Given the description of an element on the screen output the (x, y) to click on. 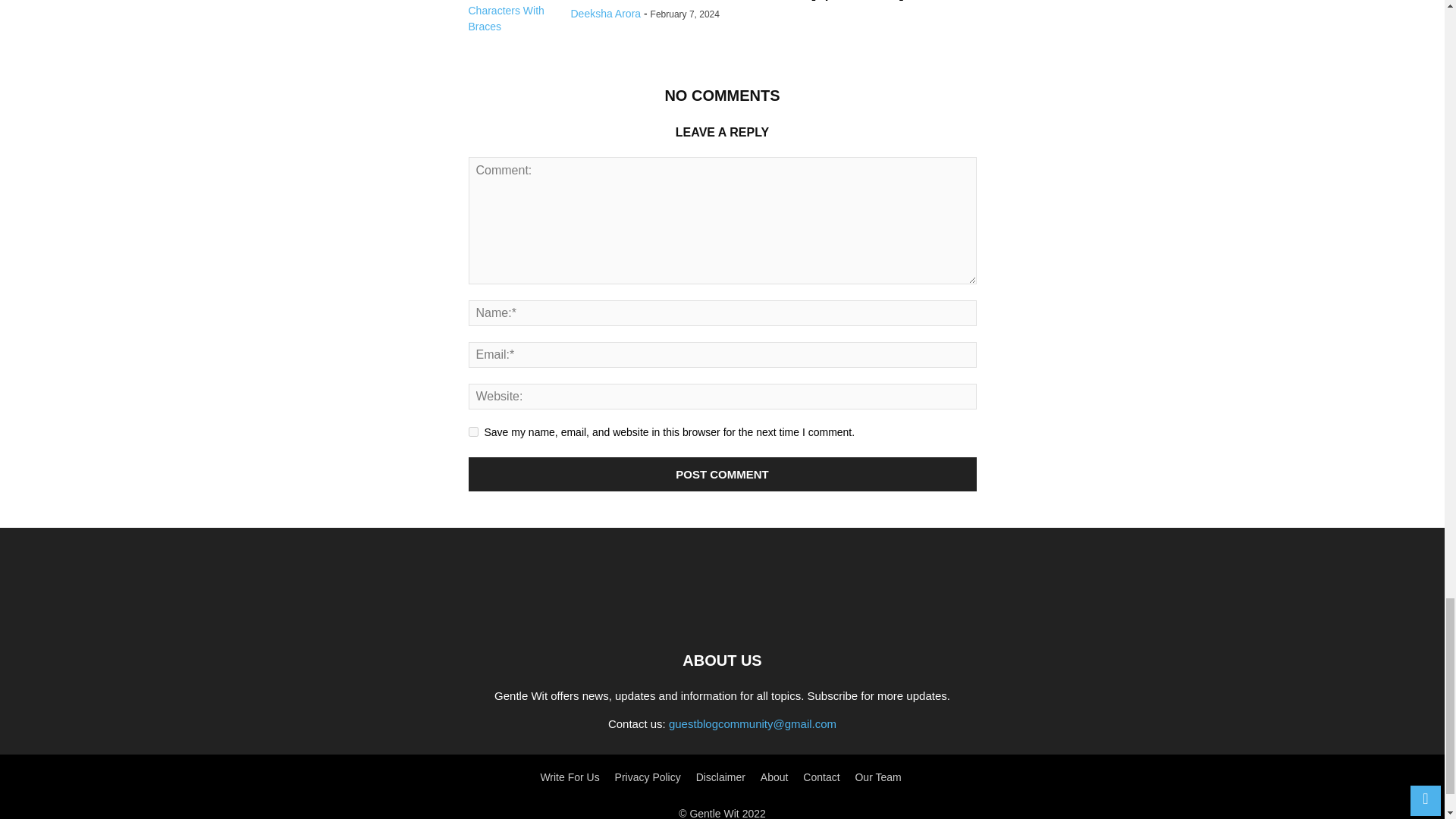
Post Comment (722, 474)
Post Comment (722, 474)
Write For Us (569, 776)
yes (473, 431)
Deeksha Arora (605, 13)
Privacy Policy (647, 776)
